Given the description of an element on the screen output the (x, y) to click on. 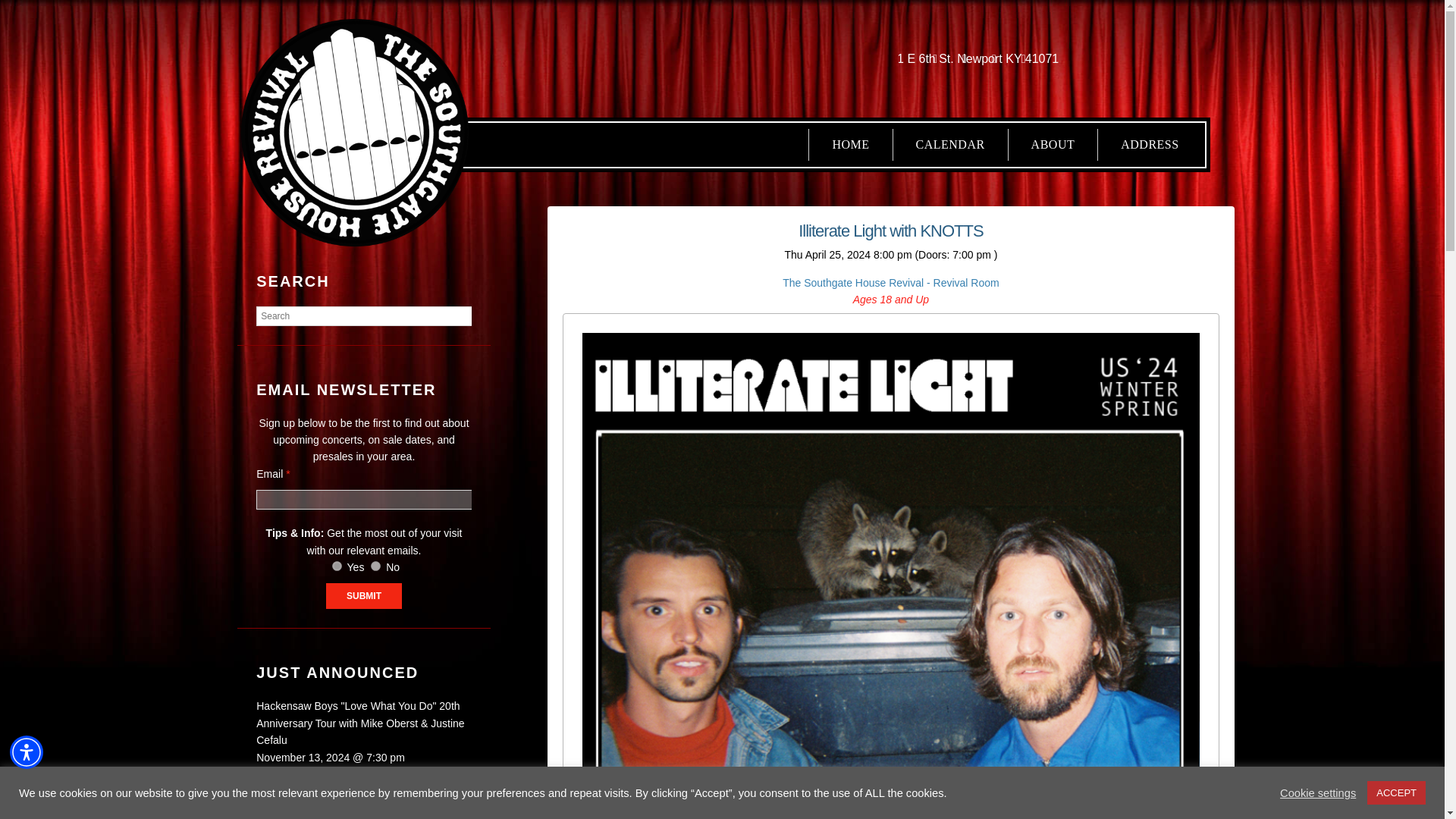
CALENDAR (950, 144)
Accessibility Menu (26, 752)
Yes (336, 565)
No (375, 565)
ABOUT (1053, 144)
ADDRESS (1149, 144)
HOME (850, 144)
Submit (363, 596)
Submit (363, 596)
111 E 6th St. Newport KY 41071 (970, 58)
